Given the description of an element on the screen output the (x, y) to click on. 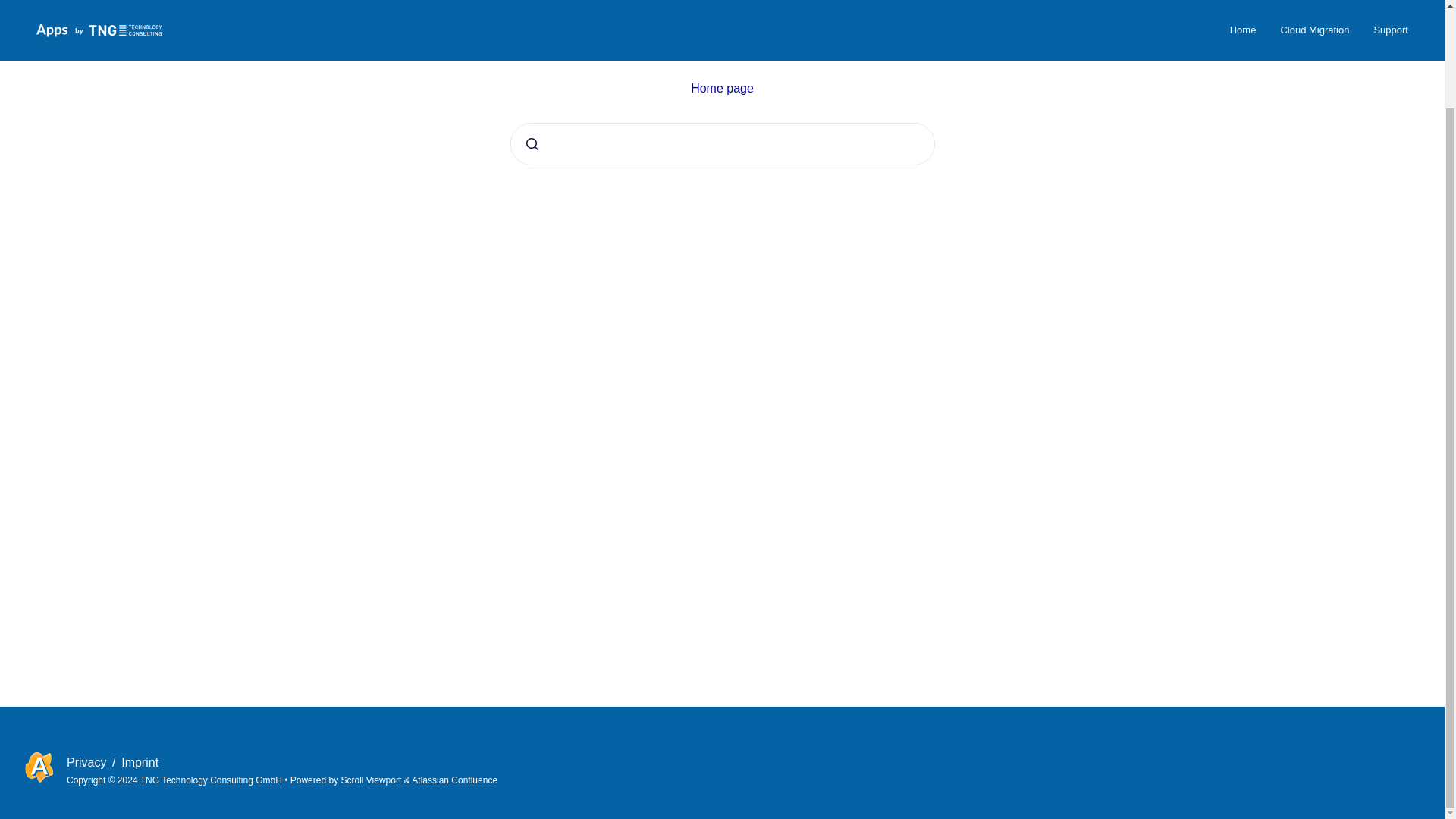
Privacy (88, 762)
Atlassian Confluence (454, 779)
Home page (722, 88)
Imprint (139, 762)
Scroll Viewport (371, 779)
